Given the description of an element on the screen output the (x, y) to click on. 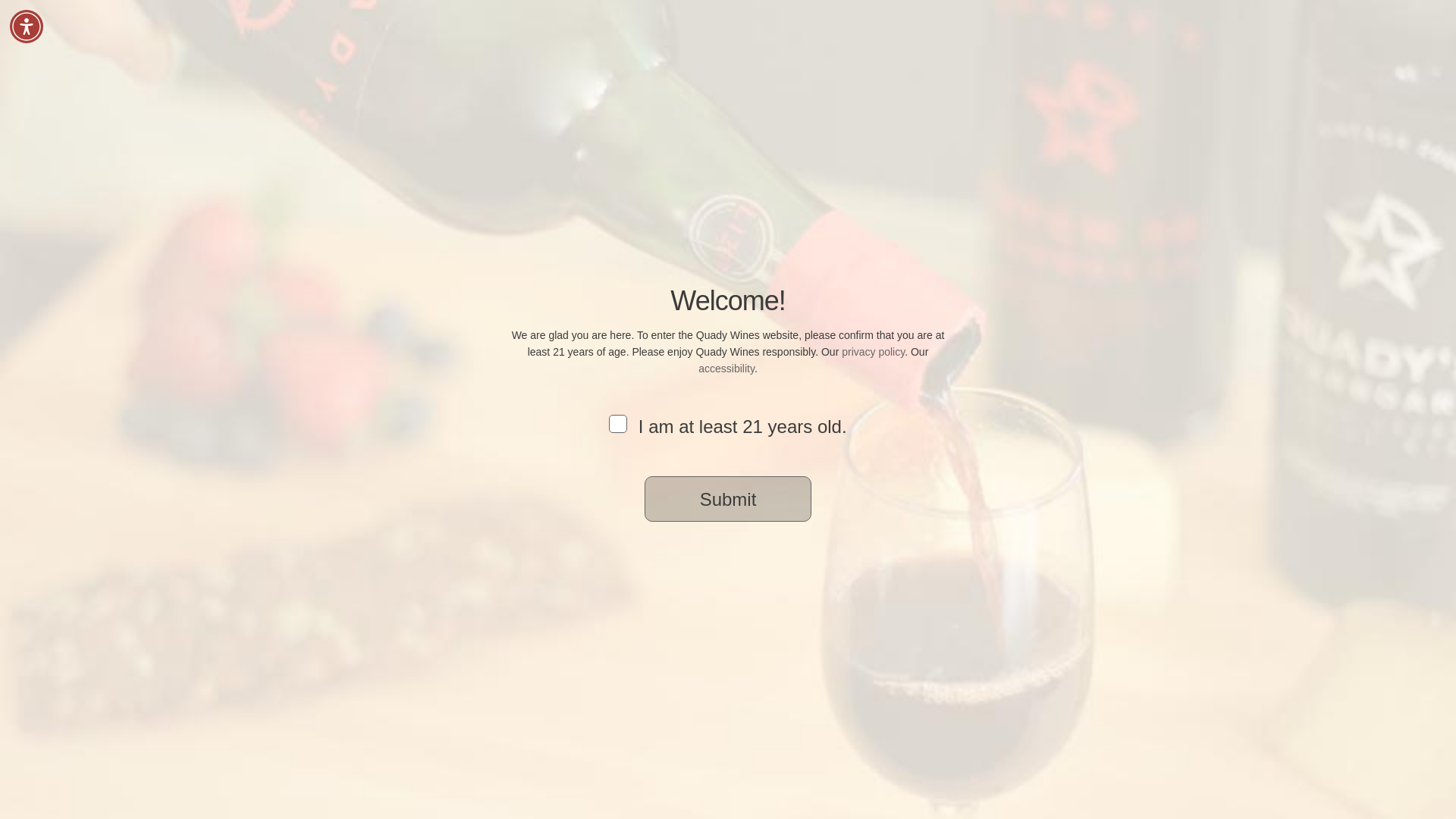
ABOUT (1029, 60)
WINES (764, 60)
CLUB (888, 60)
VISIT (828, 60)
CLUB (888, 60)
LOCATE (1101, 60)
WINES (764, 60)
Your Account (969, 26)
Search (1154, 60)
accessibility (726, 368)
LOCATE (1101, 60)
VISIT (828, 60)
search-button (497, 163)
Quady Winery Home (407, 41)
RECIPES (957, 60)
